Given the description of an element on the screen output the (x, y) to click on. 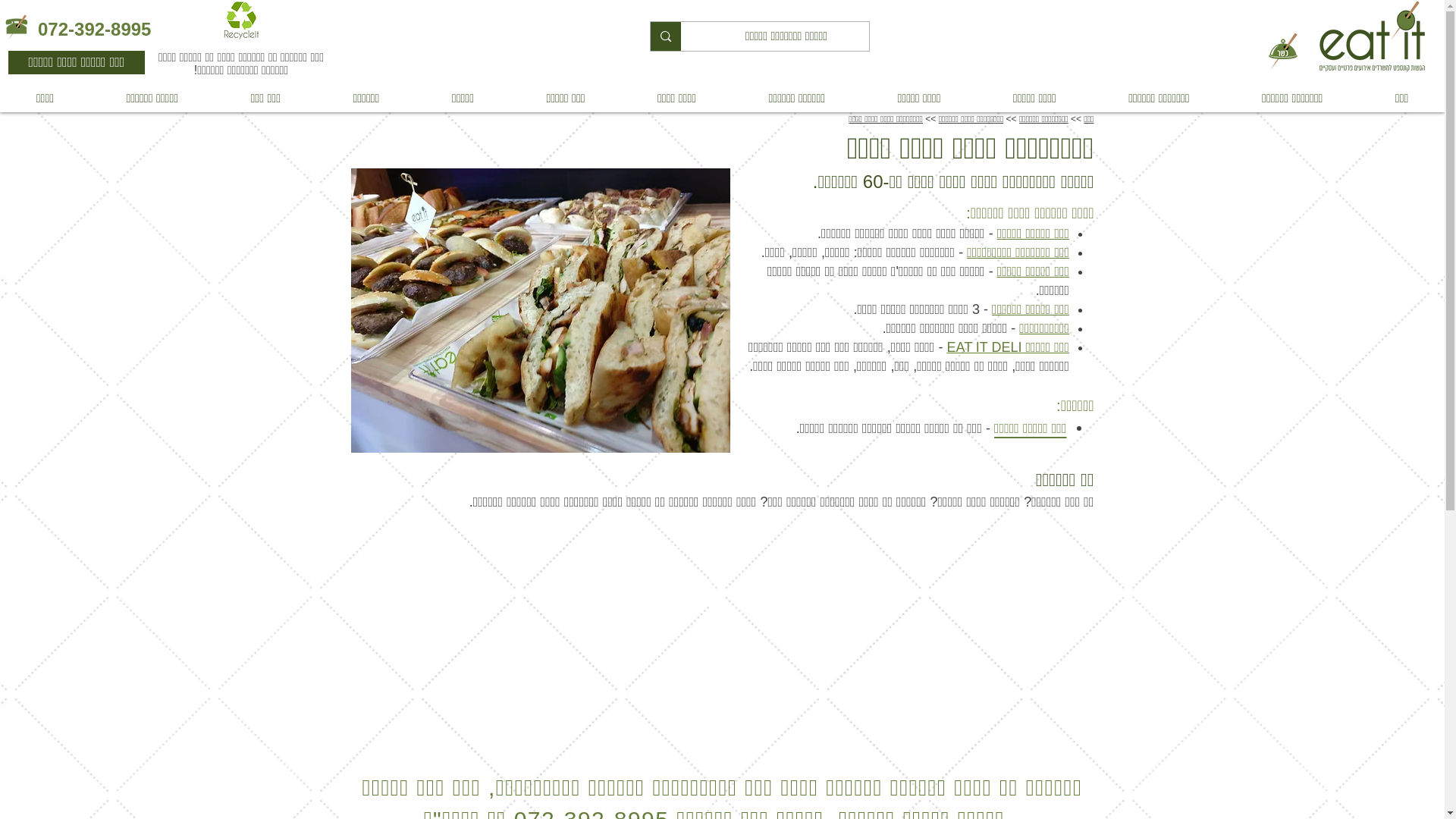
072-392-8995 Element type: text (93, 28)
